Given the description of an element on the screen output the (x, y) to click on. 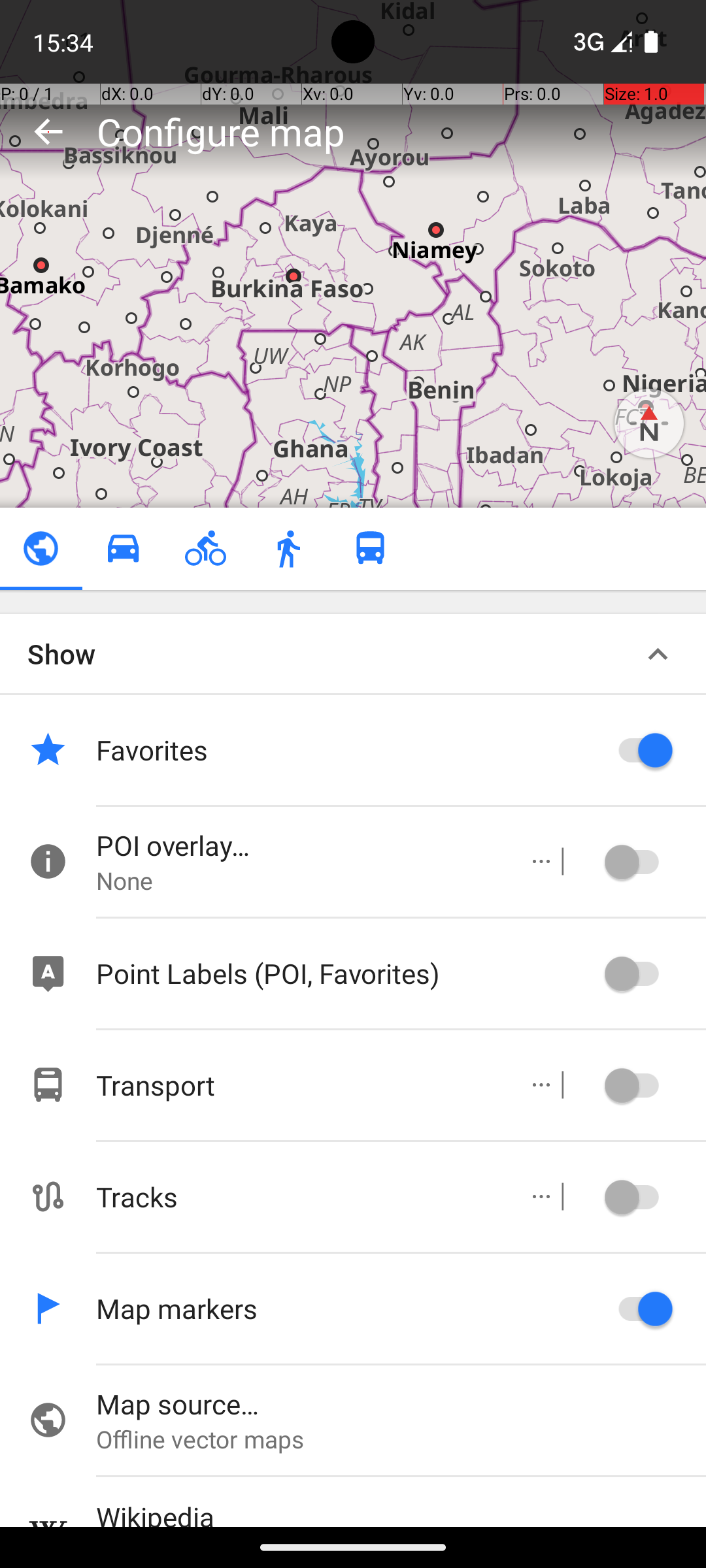
Back to map Element type: android.widget.ImageButton (48, 131)
North is up Element type: android.widget.ImageButton (649, 423)
Browse map checked Element type: android.widget.ImageView (40, 548)
Driving unchecked Element type: android.widget.ImageView (122, 548)
Cycling unchecked Element type: android.widget.ImageView (205, 548)
Walking unchecked Element type: android.widget.ImageView (287, 548)
Public transport unchecked Element type: android.widget.ImageView (369, 548)
Show Element type: android.widget.TextView (61, 653)
Favorites Element type: android.widget.TextView (346, 749)
POI overlay… Element type: android.widget.TextView (298, 844)
Point Labels (POI, Favorites) Element type: android.widget.TextView (346, 972)
Transport Element type: android.widget.TextView (298, 1084)
Tracks Element type: android.widget.TextView (298, 1196)
Map markers Element type: android.widget.TextView (346, 1307)
Map source… Element type: android.widget.TextView (401, 1403)
Offline vector maps Element type: android.widget.TextView (401, 1438)
Wikipedia Element type: android.widget.TextView (401, 1512)
